Given the description of an element on the screen output the (x, y) to click on. 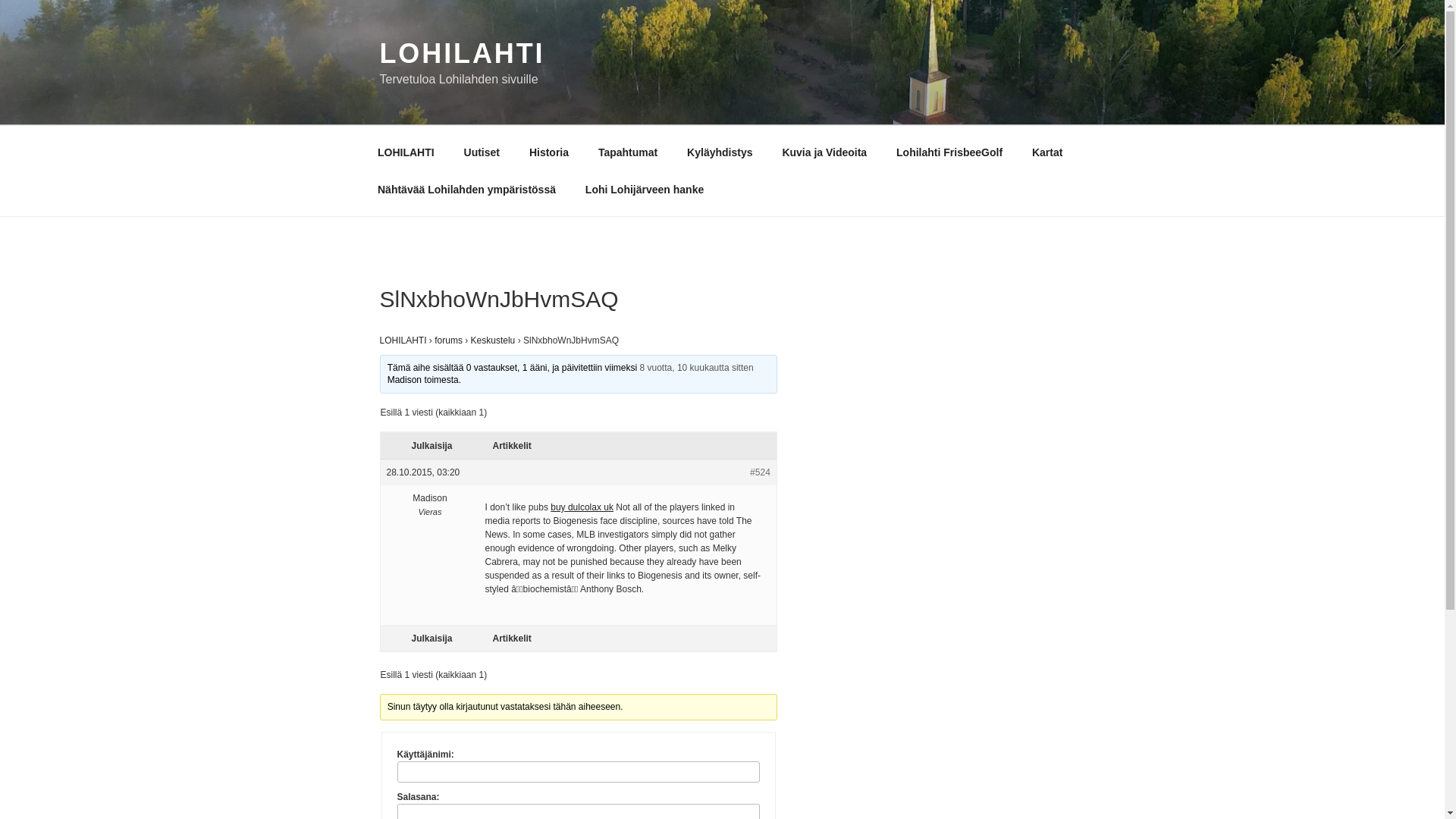
Lohilahti FrisbeeGolf (949, 151)
LOHILAHTI (405, 151)
Keskustelu (492, 339)
SlNxbhoWnJbHvmSAQ (697, 367)
Historia (547, 151)
LOHILAHTI (402, 339)
Uutiset (480, 151)
buy dulcolax uk (581, 507)
Kuvia ja Videoita (824, 151)
forums (448, 339)
